Given the description of an element on the screen output the (x, y) to click on. 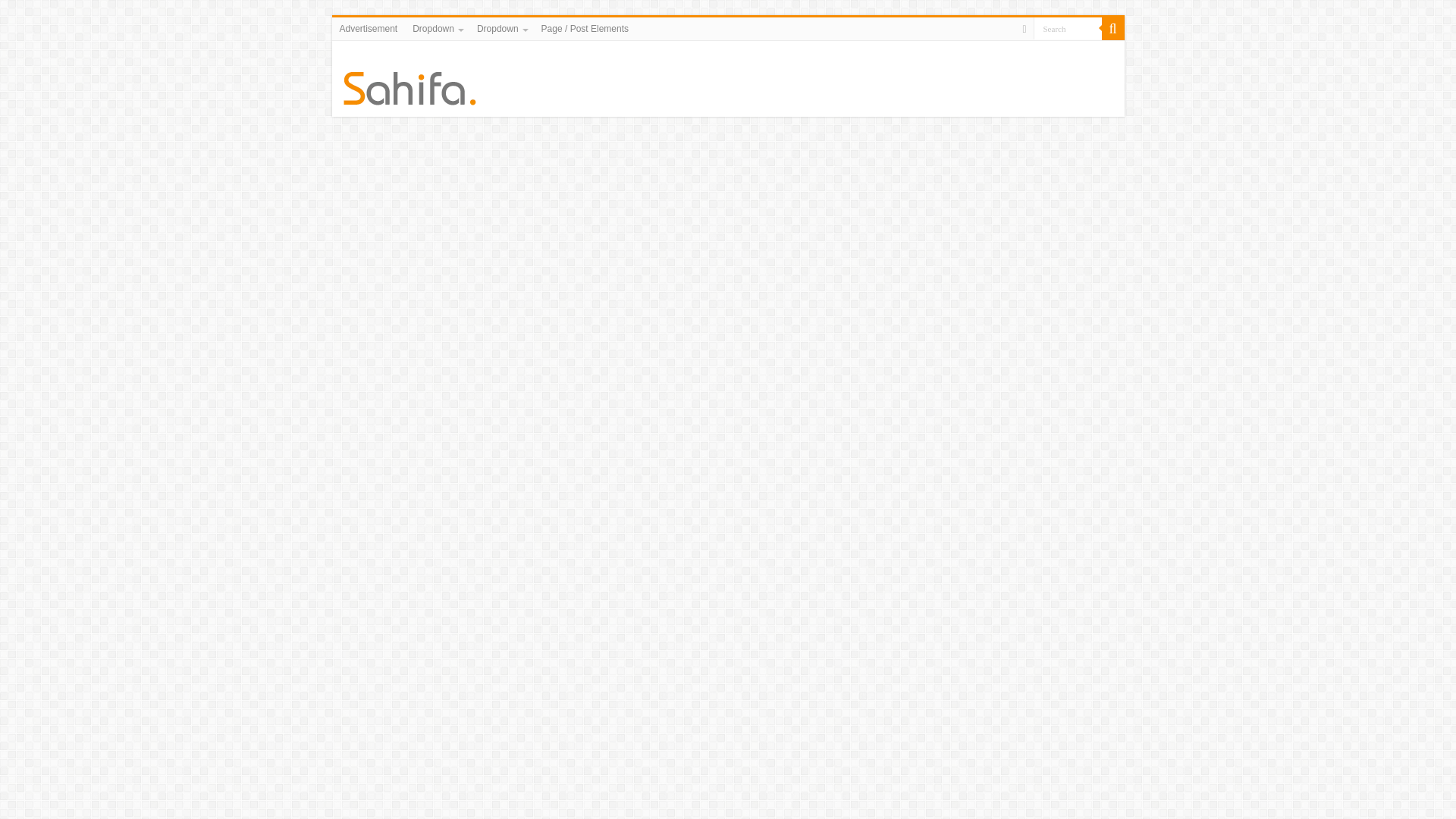
Advertisement (368, 28)
Dropdown (436, 28)
Dropdown (501, 28)
Search (1066, 28)
Search (1066, 28)
Search (1112, 28)
Search (1066, 28)
